Given the description of an element on the screen output the (x, y) to click on. 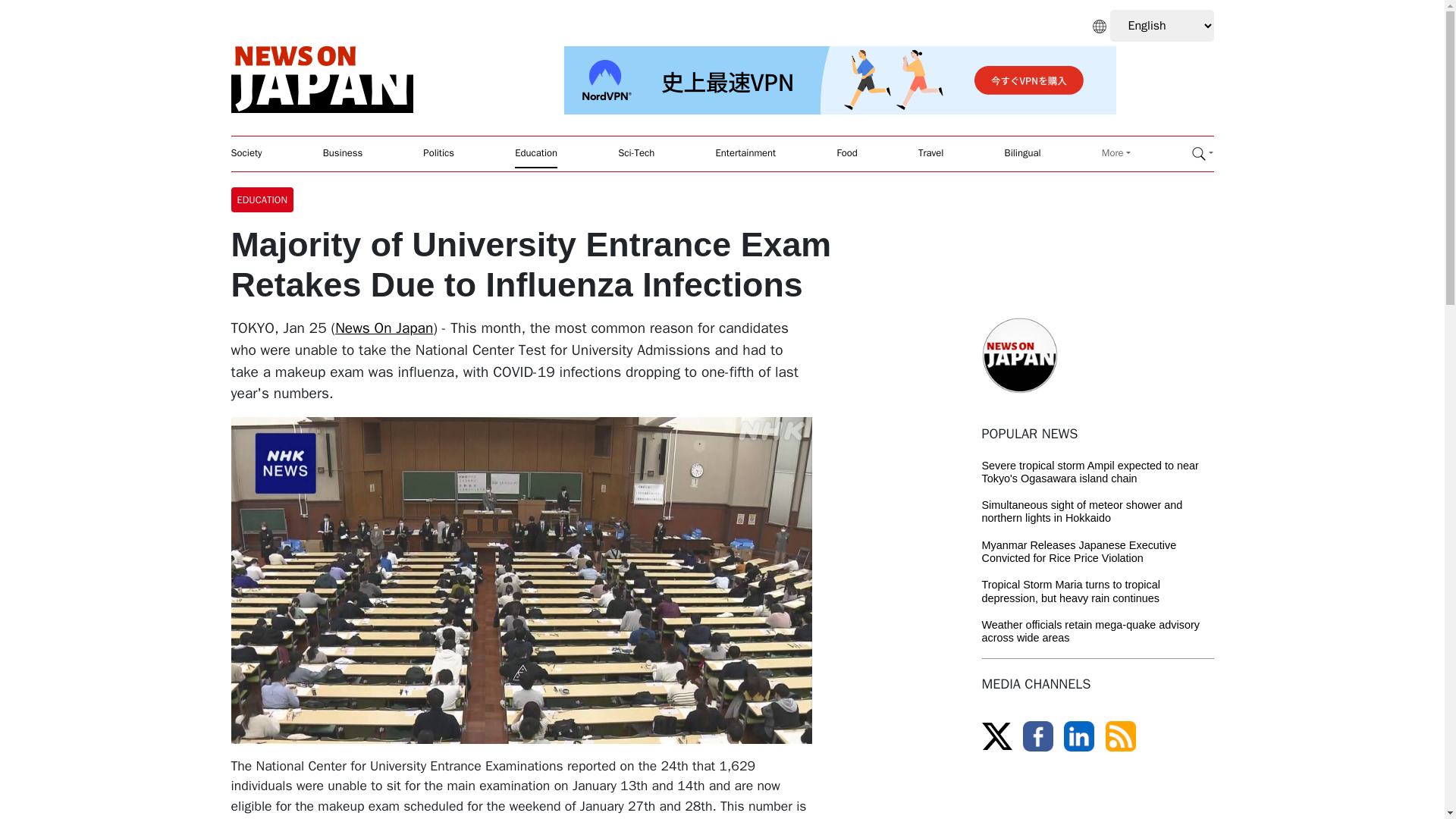
More (1116, 153)
Society (246, 153)
Education (536, 153)
Entertainment (746, 153)
Bilingual (1022, 153)
Travel (930, 153)
EDUCATION (265, 198)
Sci-Tech (635, 153)
Business (342, 153)
Politics (438, 153)
